Given the description of an element on the screen output the (x, y) to click on. 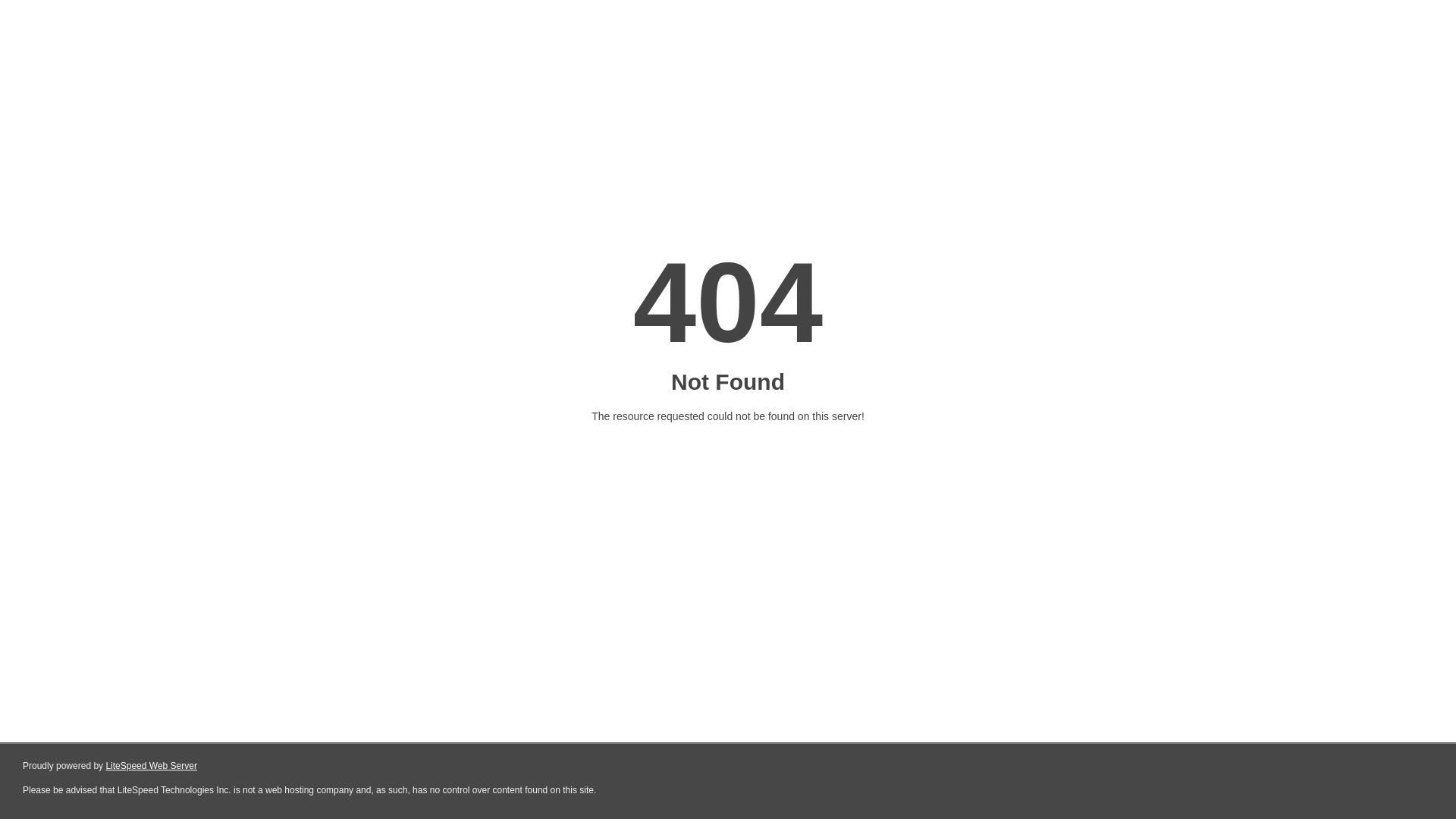
LiteSpeed Web Server Element type: text (151, 765)
